Given the description of an element on the screen output the (x, y) to click on. 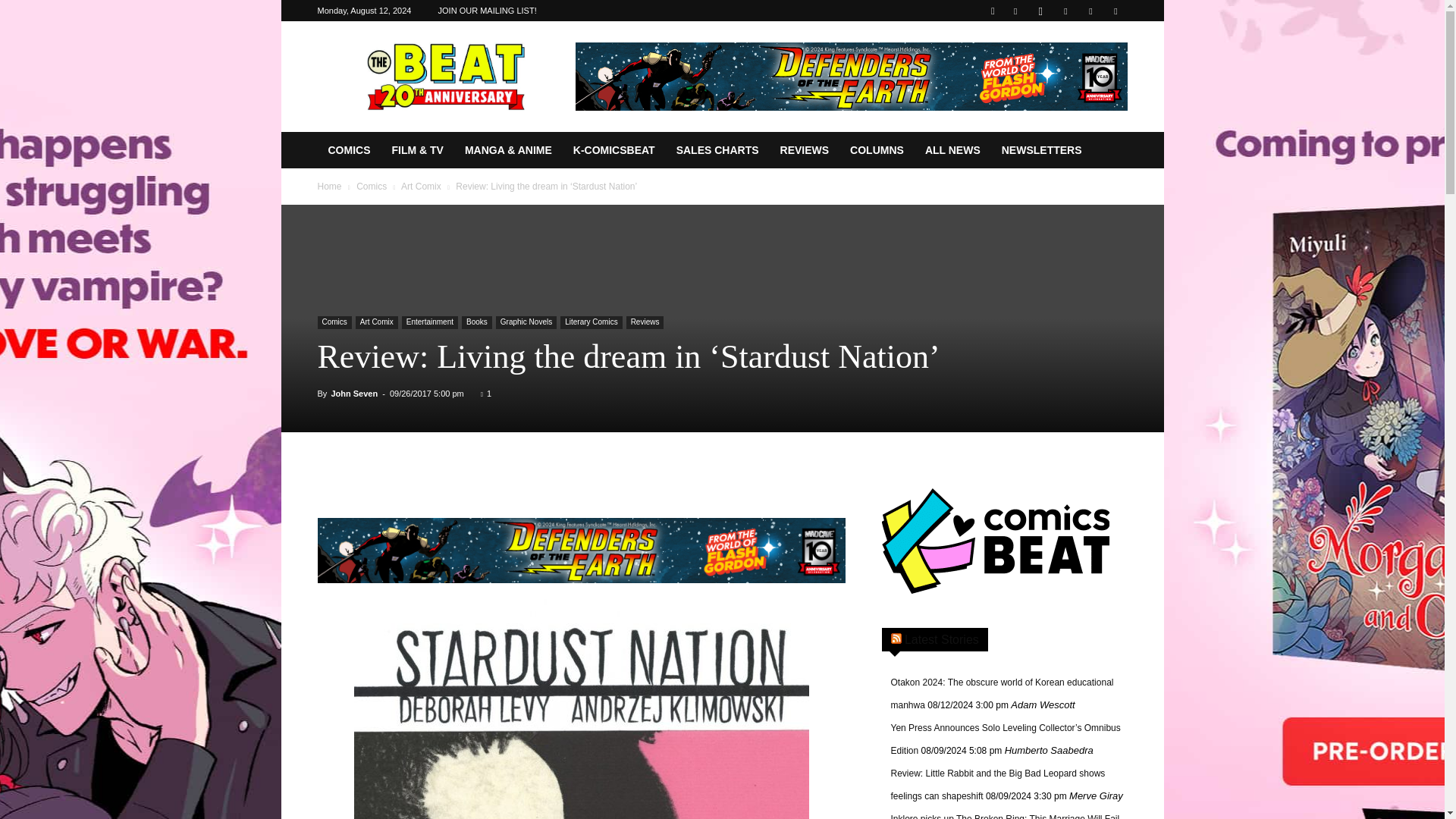
Twitter (1090, 10)
JOIN OUR MAILING LIST! (487, 10)
Instagram (1040, 10)
COLUMNS (877, 149)
COMICS (348, 149)
K-COMICSBEAT (613, 149)
Facebook (1015, 10)
Search (1085, 64)
RSS (1065, 10)
NEWSLETTERS (1042, 149)
